Given the description of an element on the screen output the (x, y) to click on. 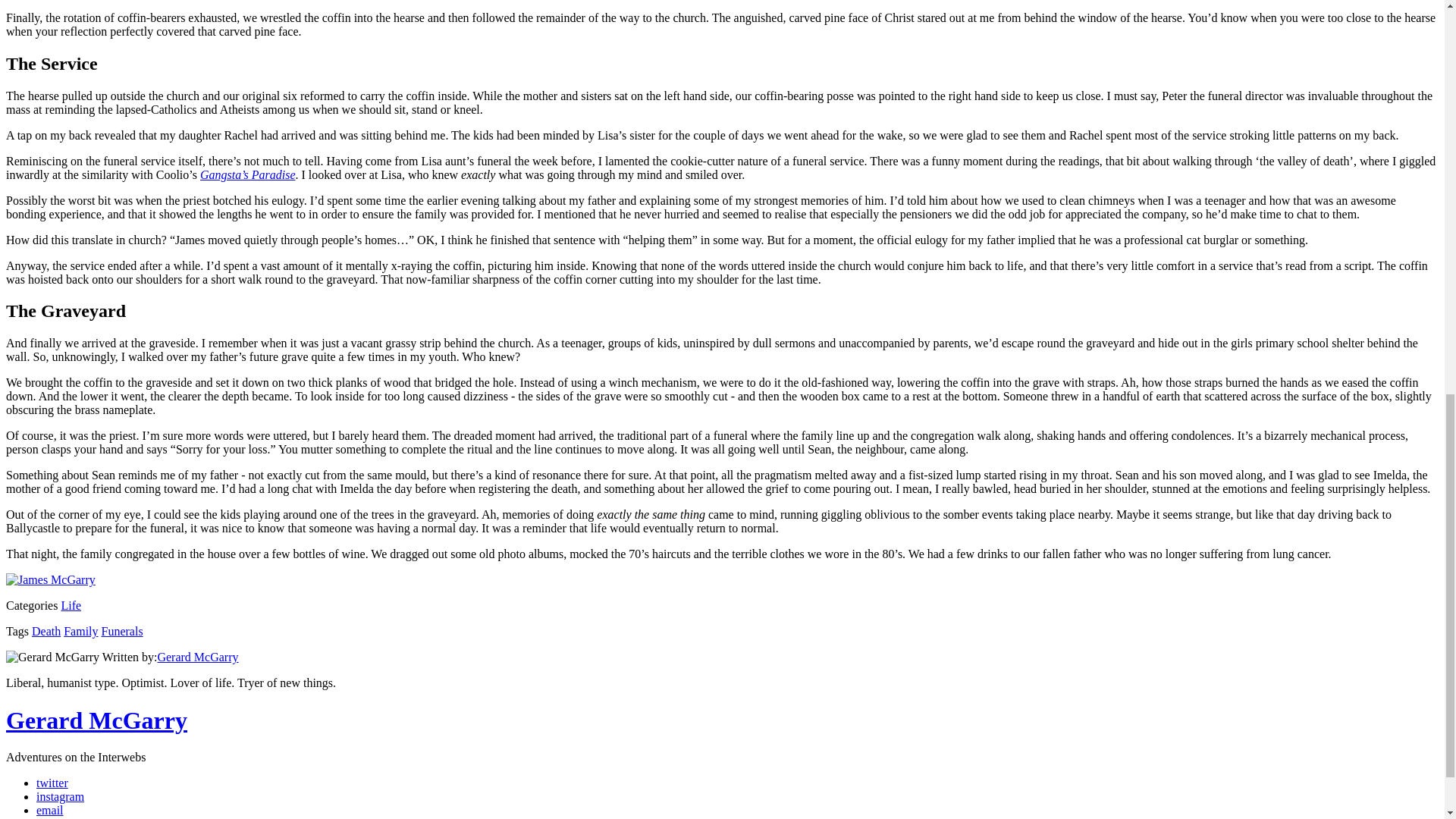
Gerard McGarry (197, 656)
linkedin (55, 818)
View all posts tagged Funerals (121, 631)
Family (80, 631)
Funerals (121, 631)
View all posts in Life (71, 604)
Death (46, 631)
View all posts tagged Family (80, 631)
Posts by Gerard McGarry (197, 656)
View all posts tagged Death (46, 631)
Life (71, 604)
twitter (52, 782)
Gerard McGarry (96, 719)
instagram (60, 796)
email (50, 809)
